Given the description of an element on the screen output the (x, y) to click on. 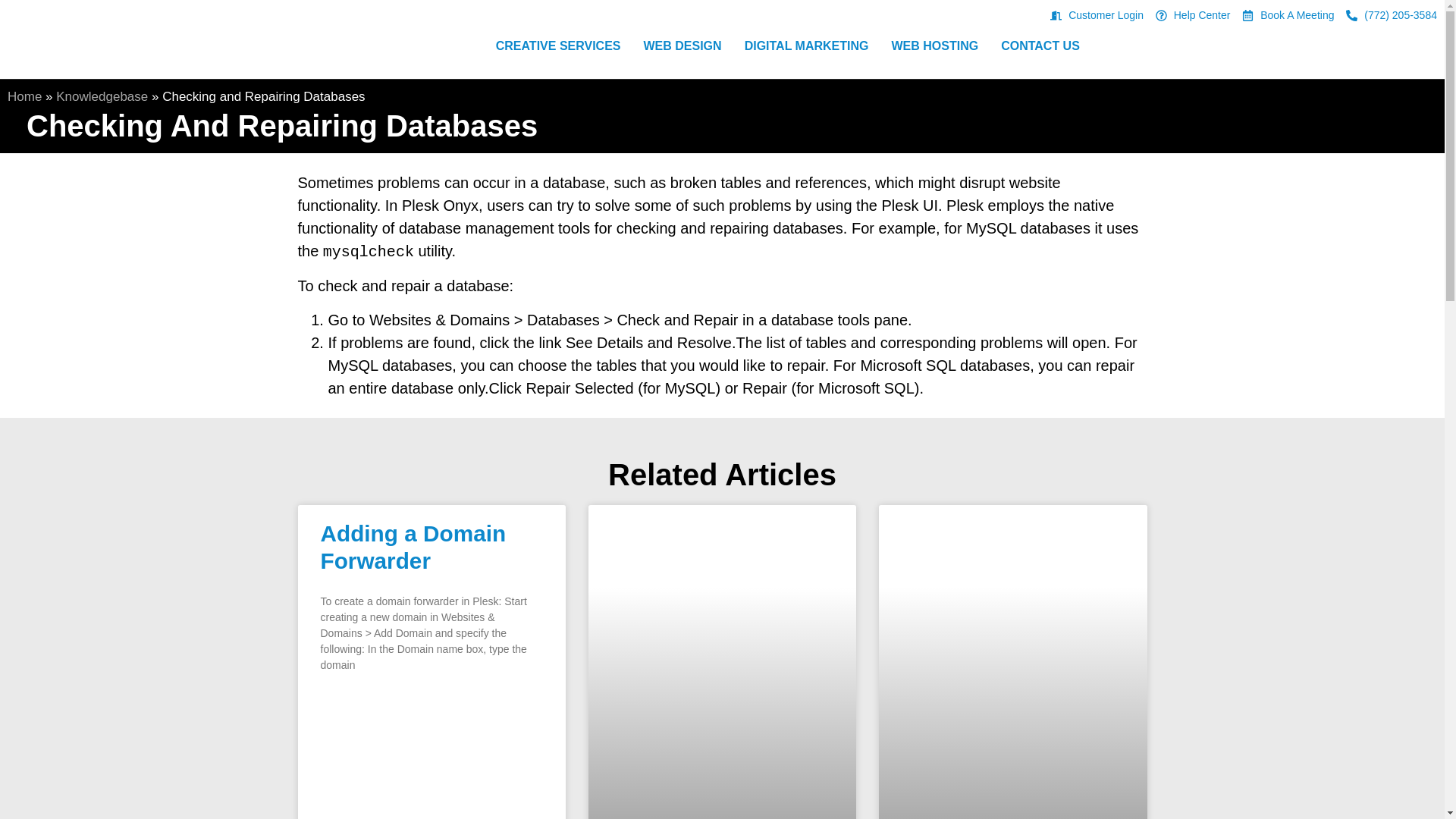
DIGITAL MARKETING (806, 46)
WEB HOSTING (934, 46)
CREATIVE SERVICES (557, 46)
Book A Meeting (1287, 15)
CONTACT US (1040, 46)
Help Center (1193, 15)
Customer Login (1095, 15)
WEB DESIGN (682, 46)
